Given the description of an element on the screen output the (x, y) to click on. 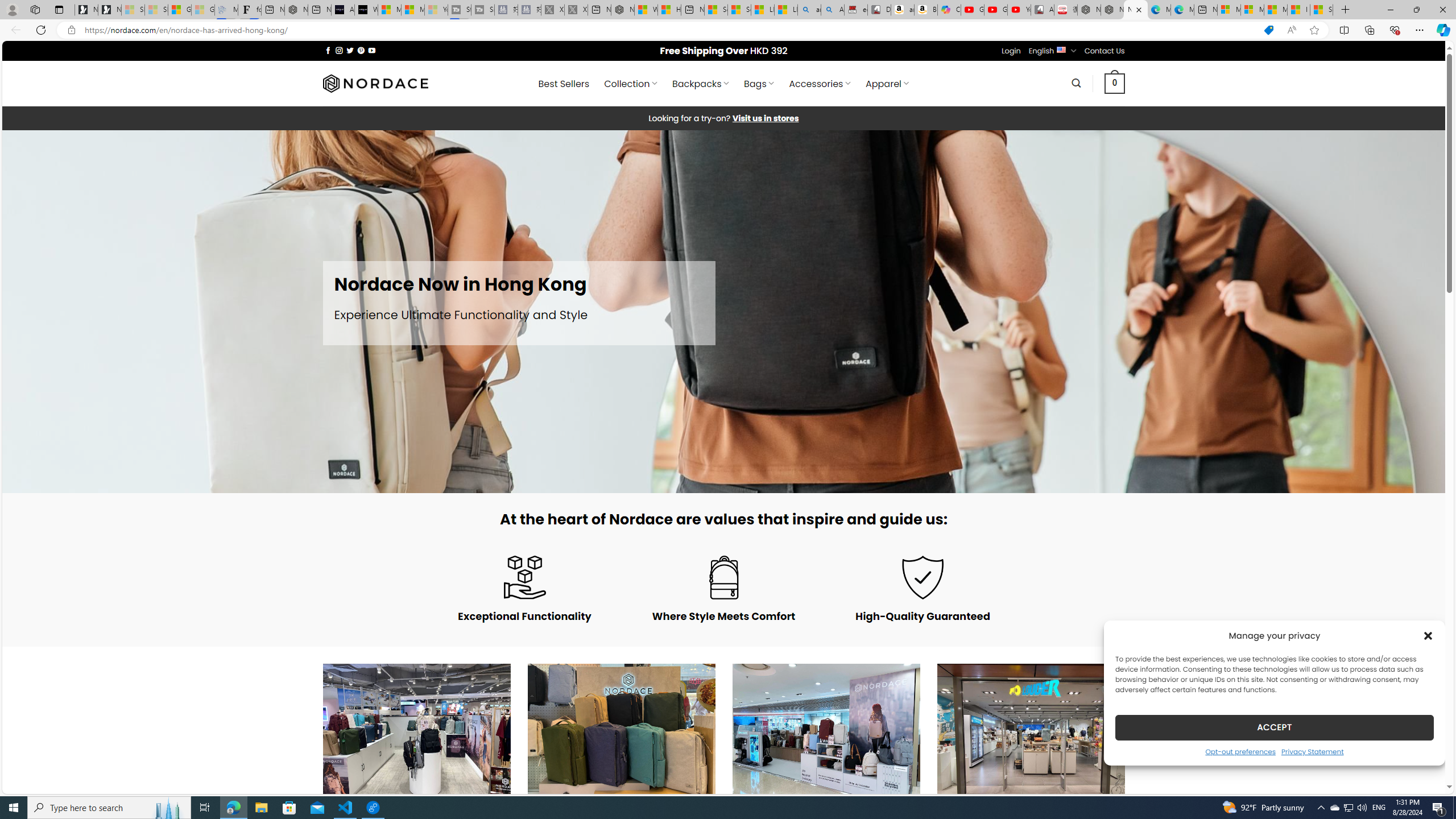
 0  (1115, 83)
Follow on Pinterest (360, 49)
Copilot (949, 9)
  Best Sellers (563, 83)
Microsoft account | Privacy (1252, 9)
Contact Us (1104, 50)
